Given the description of an element on the screen output the (x, y) to click on. 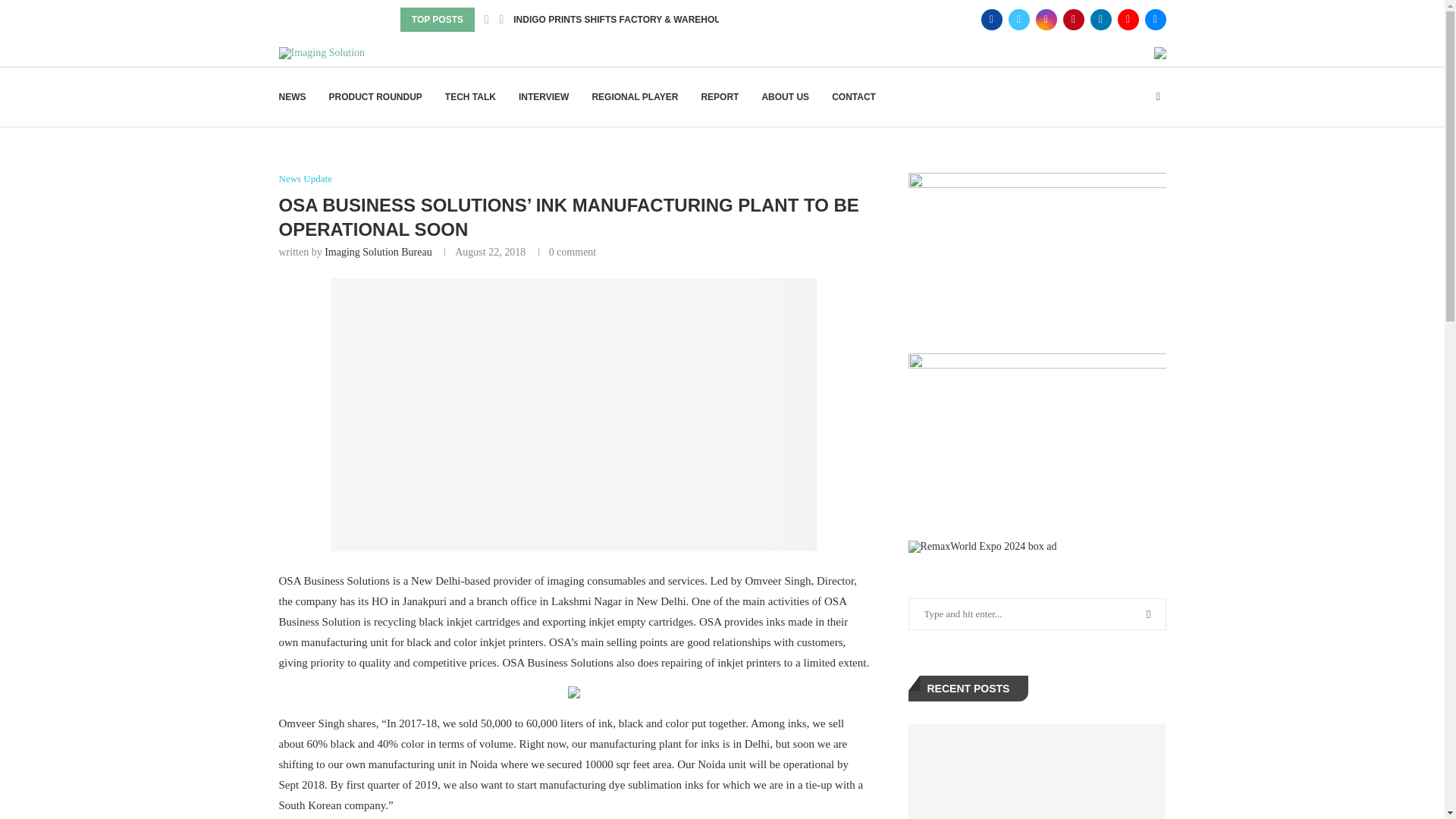
CONTACT (853, 96)
TECH TALK (470, 96)
PRODUCT ROUNDUP (375, 96)
INTERVIEW (543, 96)
REGIONAL PLAYER (634, 96)
ABOUT US (785, 96)
